Given the description of an element on the screen output the (x, y) to click on. 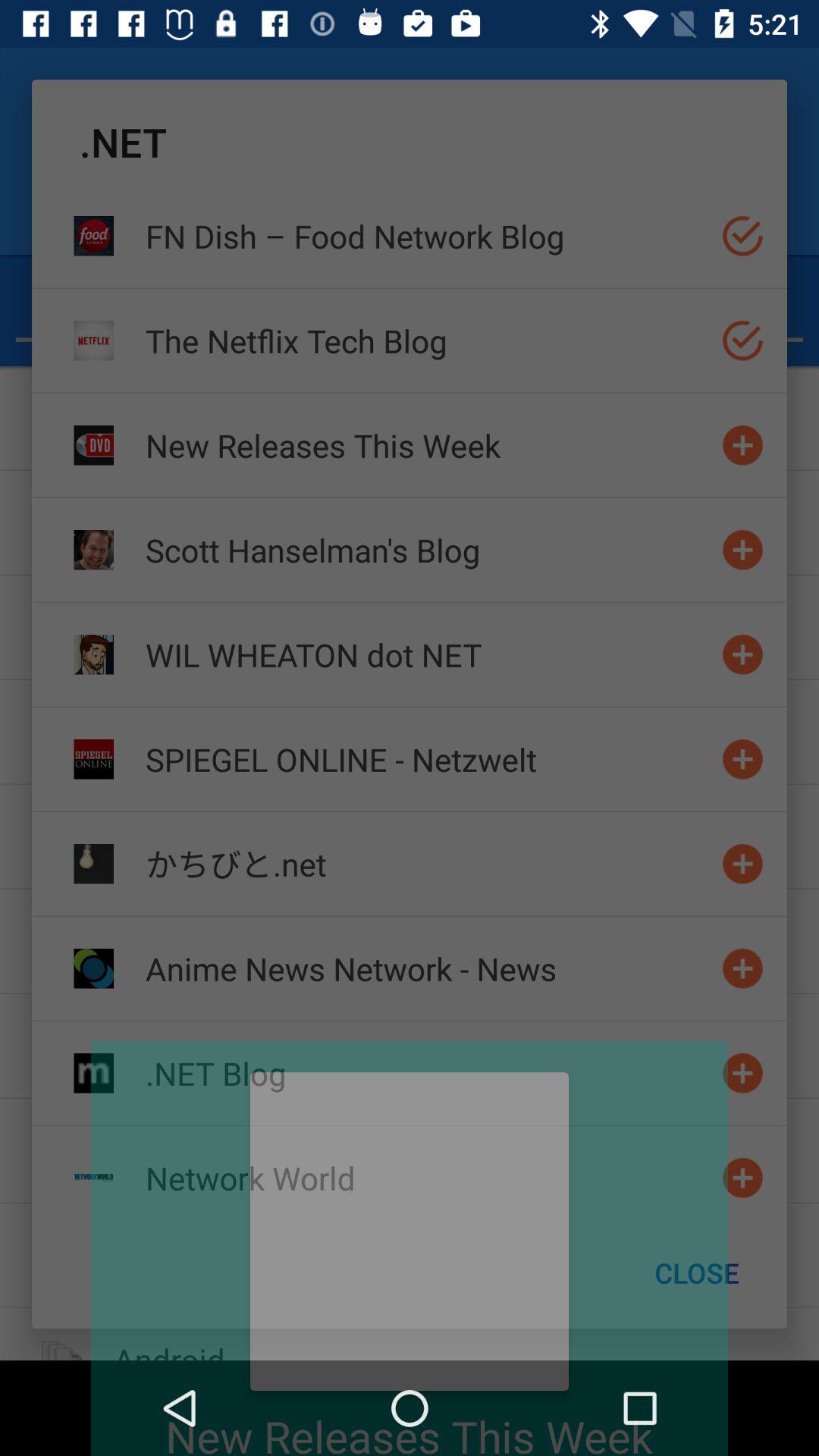
select item below the wil wheaton dot icon (426, 758)
